Given the description of an element on the screen output the (x, y) to click on. 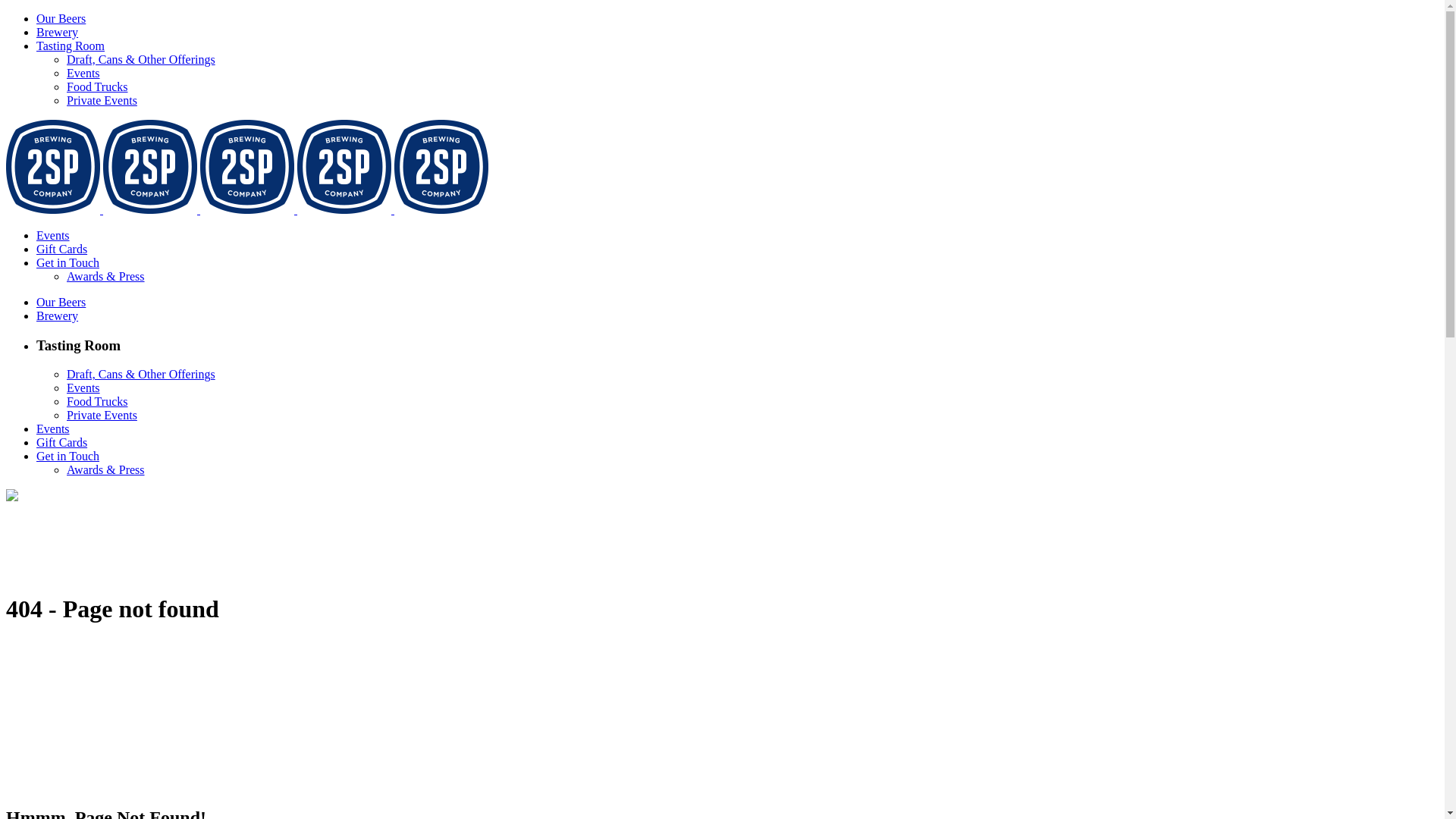
Gift Cards Element type: text (61, 442)
Private Events Element type: text (101, 414)
Brewery Element type: text (57, 315)
Private Events Element type: text (101, 100)
Awards & Press Element type: text (105, 275)
Get in Touch Element type: text (67, 262)
Our Beers Element type: text (60, 18)
Tasting Room Element type: text (70, 45)
Events Element type: text (83, 72)
Food Trucks Element type: text (96, 86)
Draft, Cans & Other Offerings Element type: text (140, 373)
Food Trucks Element type: text (96, 401)
Brewery Element type: text (57, 31)
Gift Cards Element type: text (61, 248)
Events Element type: text (52, 235)
Events Element type: text (52, 428)
Our Beers Element type: text (60, 301)
Awards & Press Element type: text (105, 469)
Events Element type: text (83, 387)
Get in Touch Element type: text (67, 455)
Draft, Cans & Other Offerings Element type: text (140, 59)
